Given the description of an element on the screen output the (x, y) to click on. 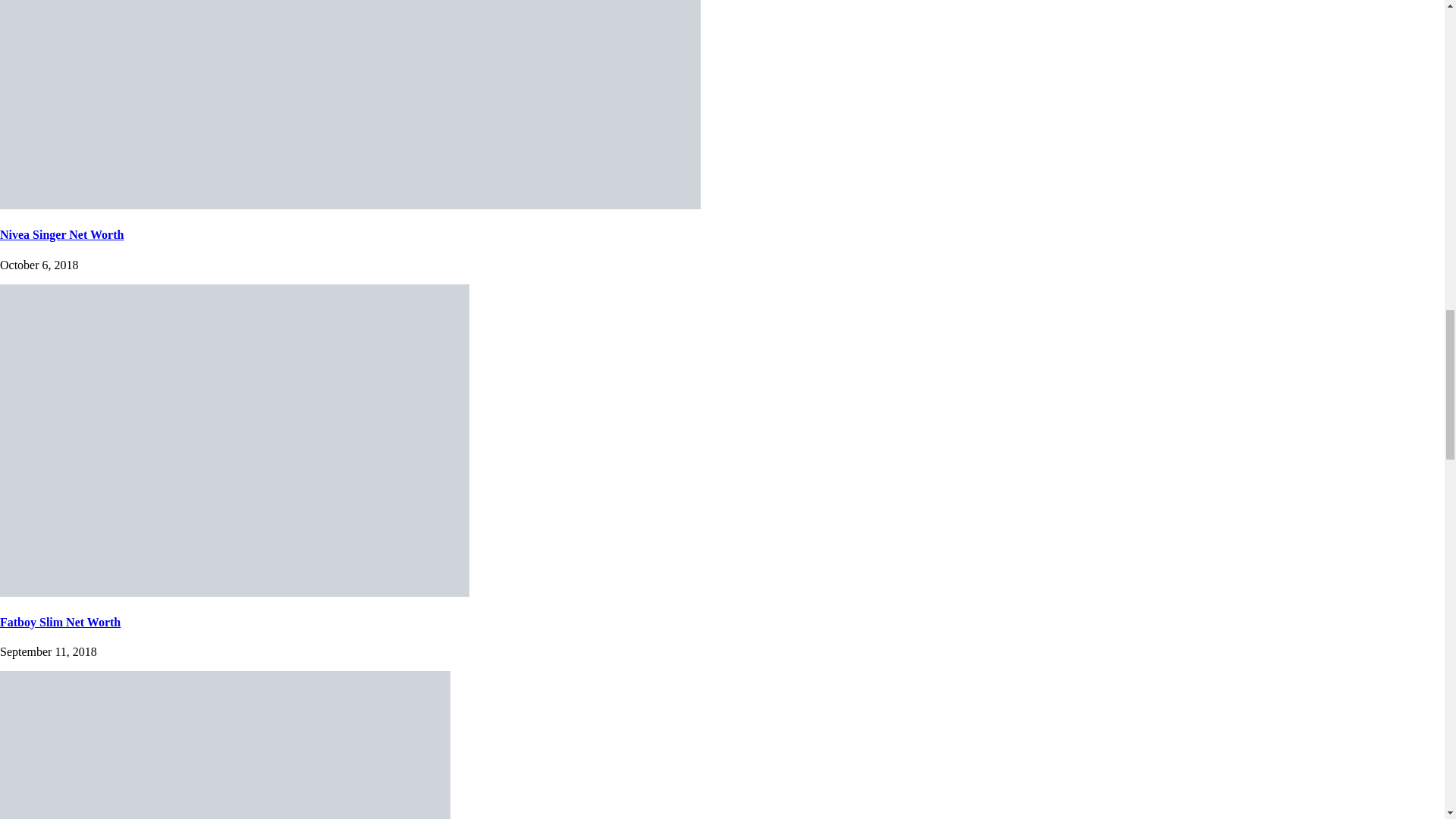
Nivea Singer Net Worth (350, 205)
Fatboy Slim Net Worth (60, 621)
Fatboy Slim Net Worth (234, 592)
Nivea Singer Net Worth (61, 234)
